Given the description of an element on the screen output the (x, y) to click on. 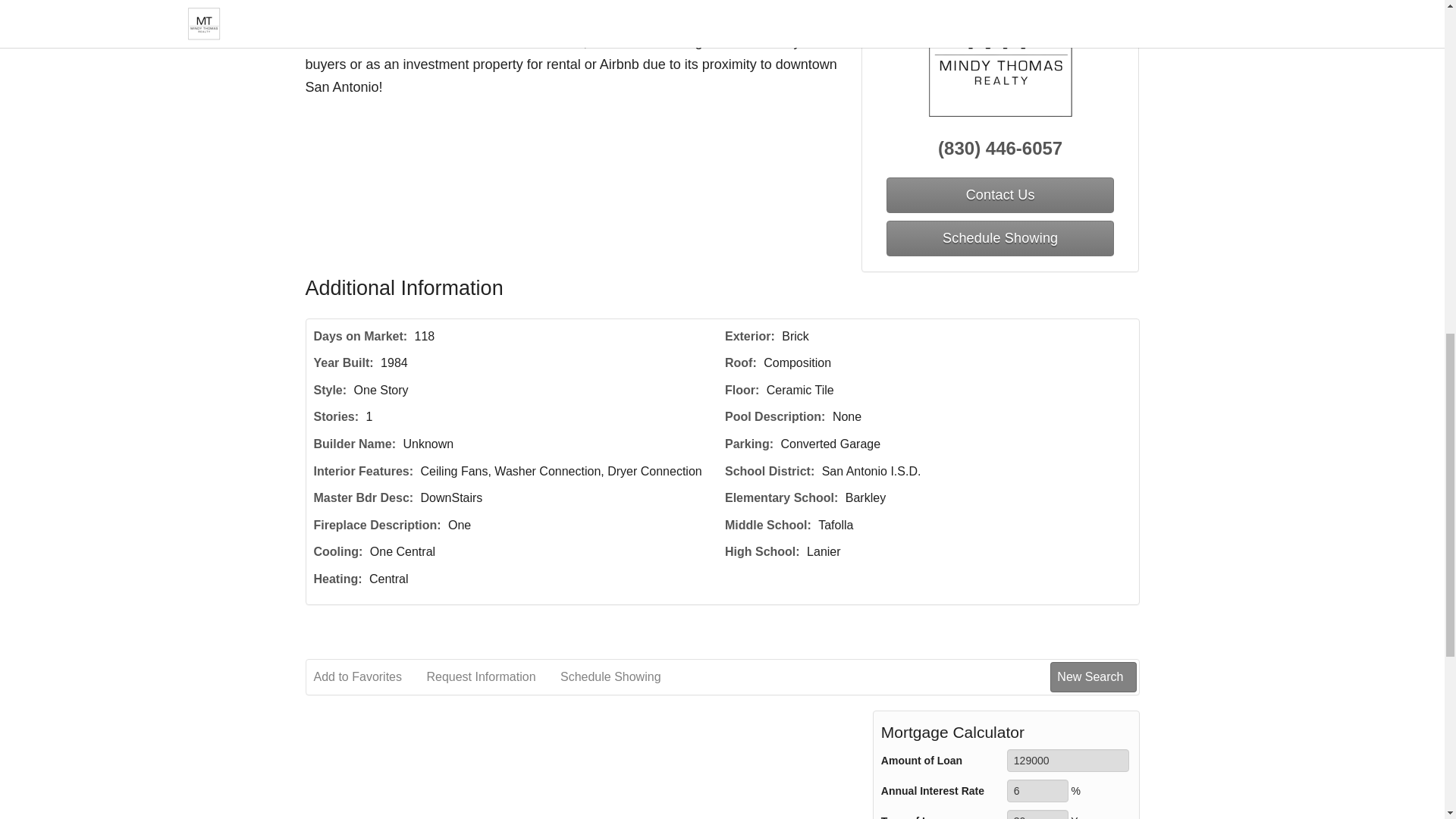
30 (1037, 814)
Contact Us (999, 194)
129000 (1068, 760)
6 (1037, 790)
